Given the description of an element on the screen output the (x, y) to click on. 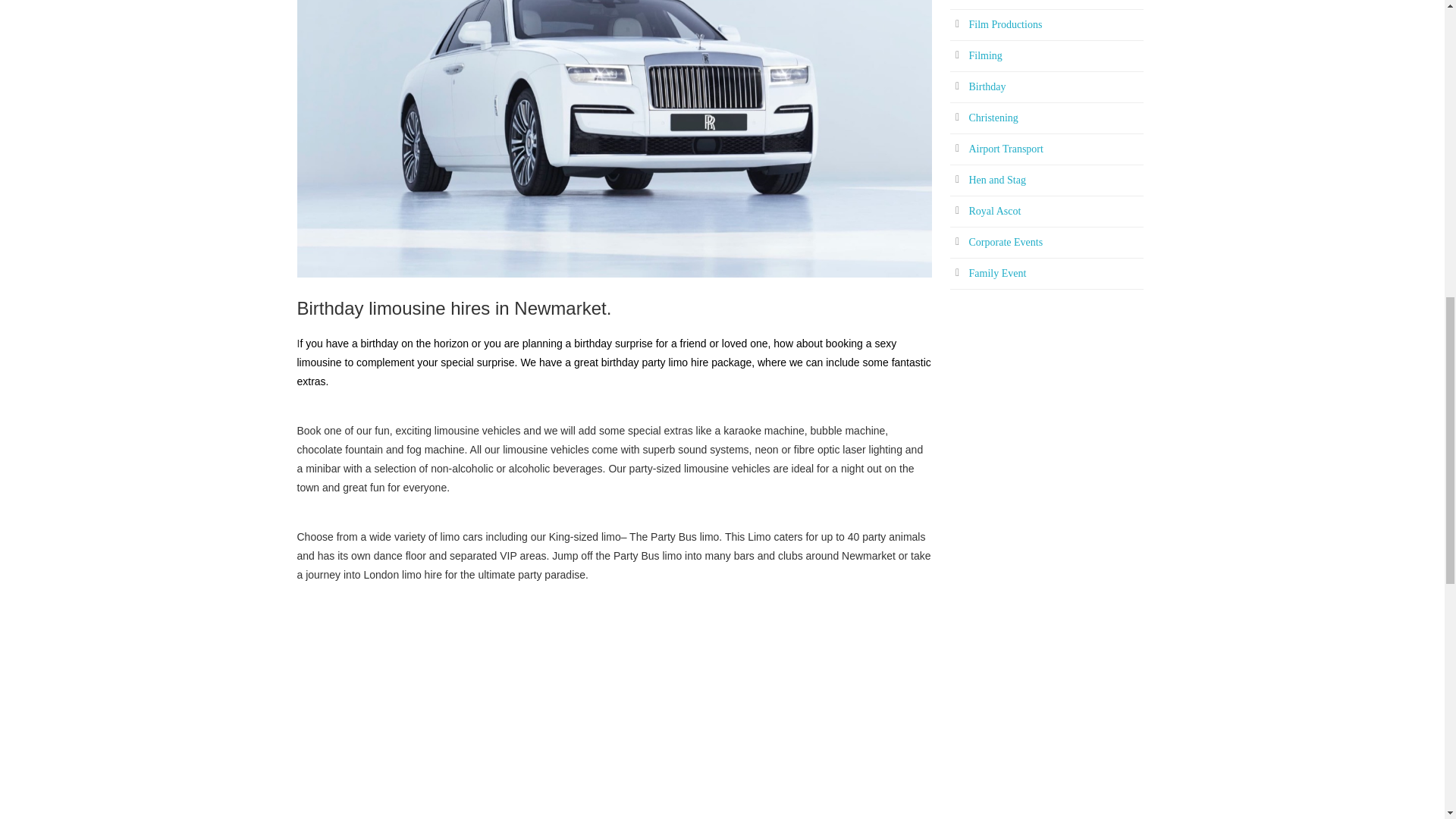
Film Productions (1005, 24)
Royal Ascot (995, 211)
Christening (993, 117)
Airport Transport (1006, 148)
Birthday (987, 86)
Hen and Stag (997, 179)
Filming (986, 55)
